Given the description of an element on the screen output the (x, y) to click on. 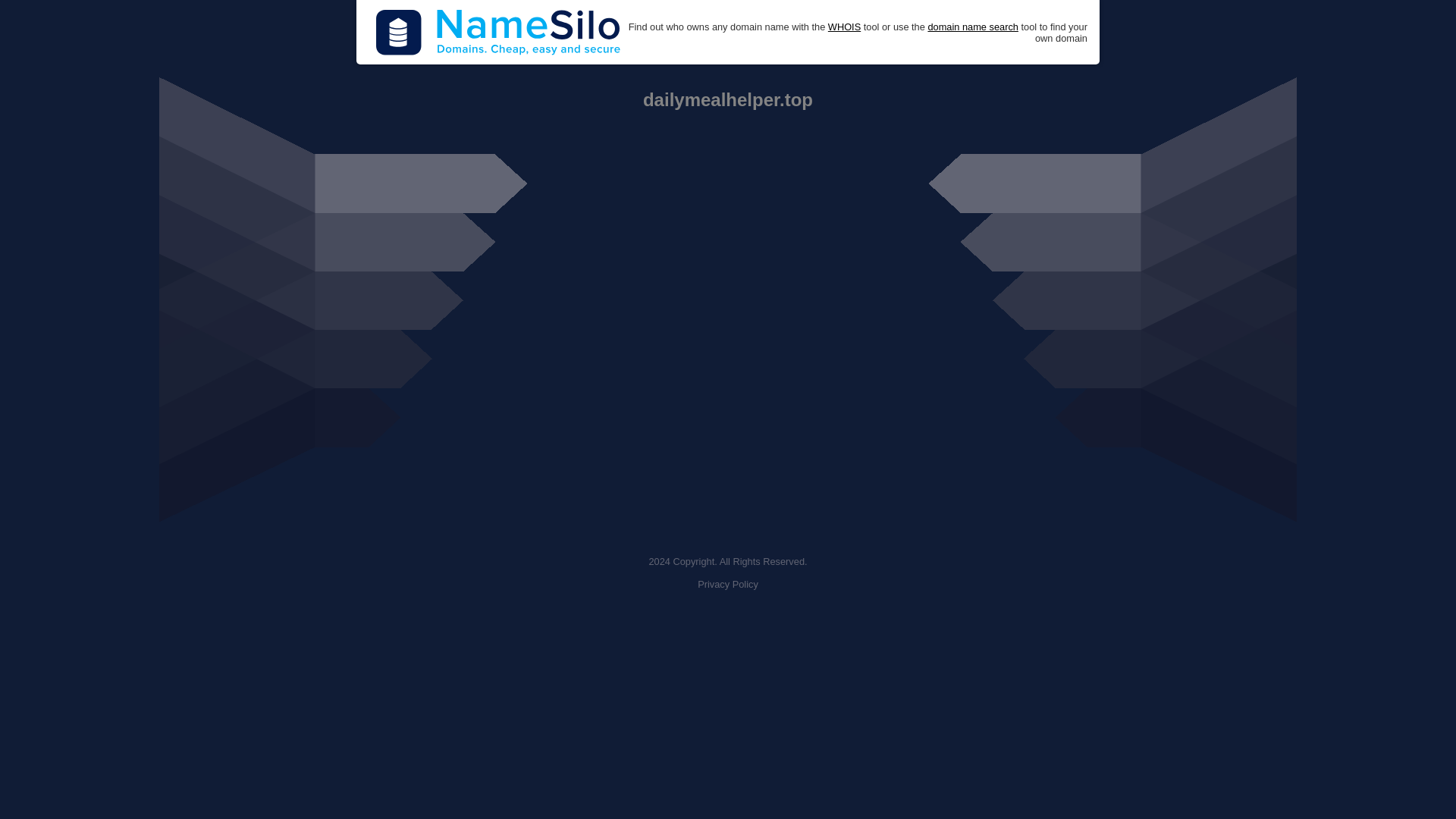
Privacy Policy (727, 583)
WHOIS (844, 26)
domain name search (972, 26)
